Given the description of an element on the screen output the (x, y) to click on. 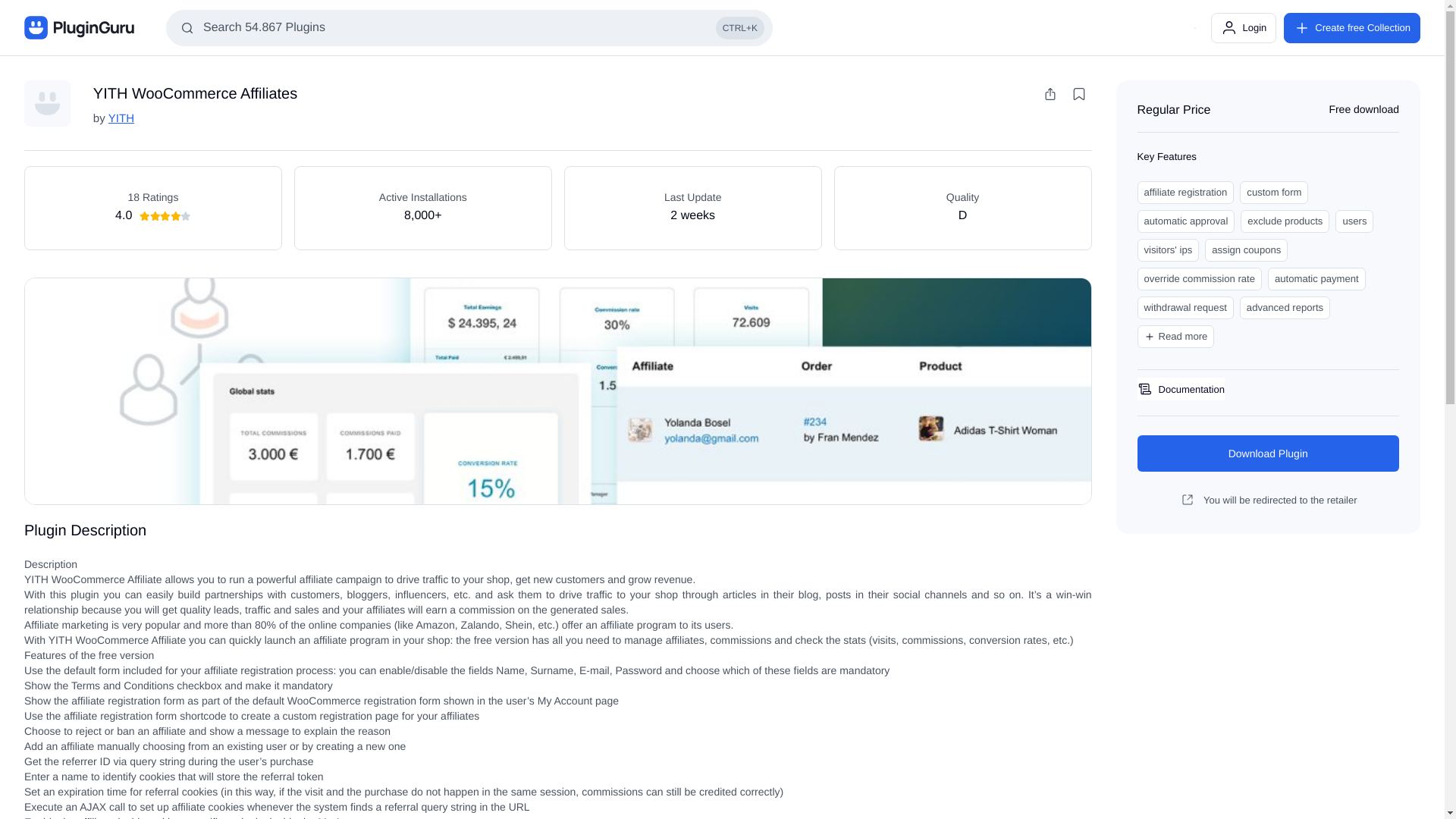
withdrawal request (1185, 307)
automatic approval (1185, 220)
override commission rate (1199, 278)
Download Plugin (1268, 452)
Documentation (1179, 388)
custom form (1273, 191)
advanced reports (1285, 307)
Create free Collection (1352, 27)
visitors' ips (1168, 250)
Read more (1175, 336)
